Given the description of an element on the screen output the (x, y) to click on. 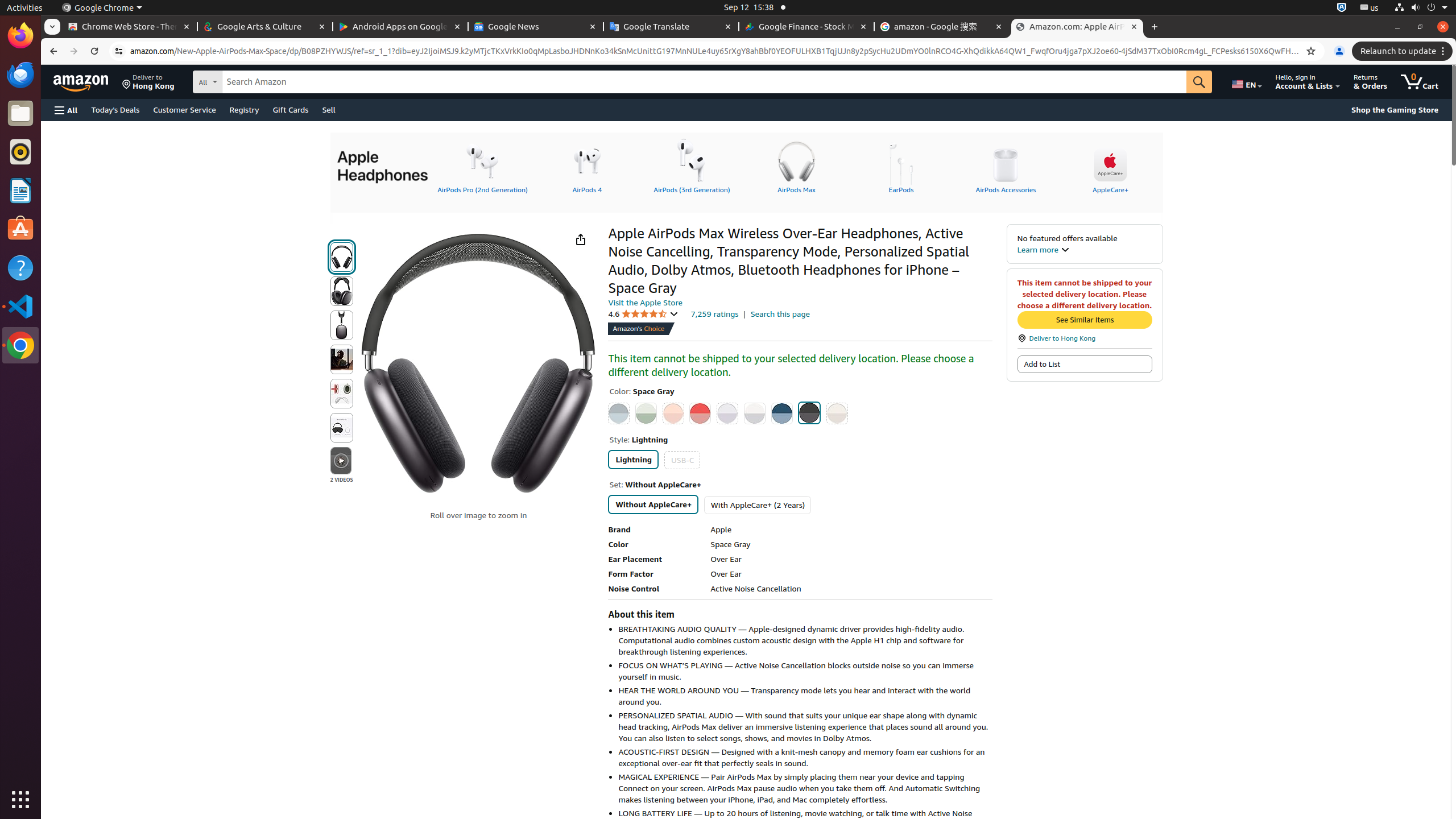
Starlight Element type: push-button (836, 412)
Orange Element type: push-button (672, 412)
Relaunch to update Element type: push-button (1403, 50)
Share Element type: push-button (580, 239)
Files Element type: push-button (20, 113)
